Given the description of an element on the screen output the (x, y) to click on. 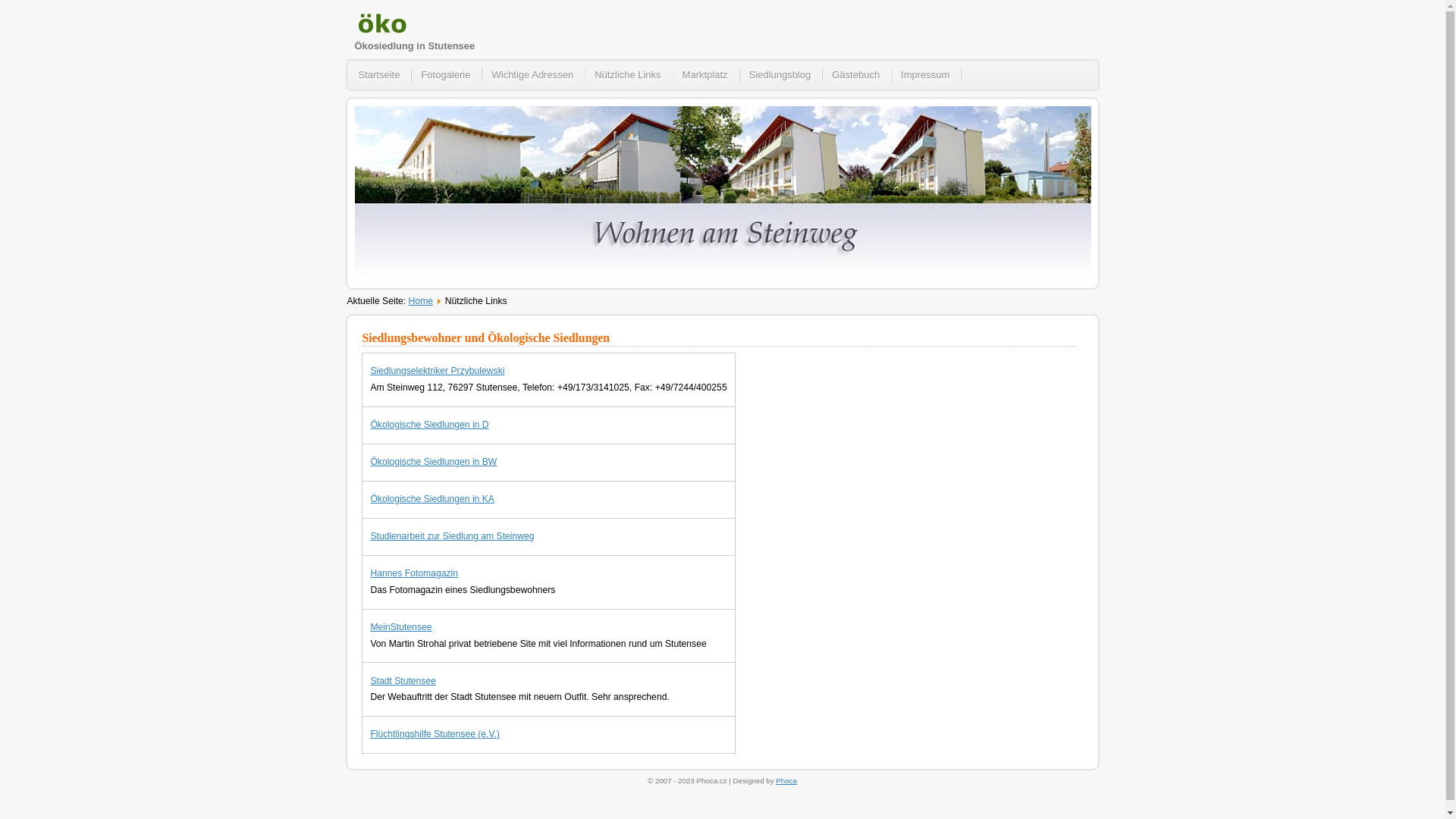
Marktplatz Element type: text (705, 74)
Home Element type: text (420, 300)
MeinStutensee Element type: text (400, 626)
Siedlungselektriker Przybulewski Element type: text (437, 370)
Studienarbeit zur Siedlung am Steinweg Element type: text (451, 535)
Wichtige Adressen Element type: text (532, 74)
Startseite Element type: text (379, 74)
Hannes Fotomagazin Element type: text (414, 572)
Fotogalerie Element type: text (445, 74)
Siedlungsblog Element type: text (781, 74)
Impressum Element type: text (925, 74)
Phoca Element type: text (786, 780)
Stadt Stutensee Element type: text (403, 679)
